Given the description of an element on the screen output the (x, y) to click on. 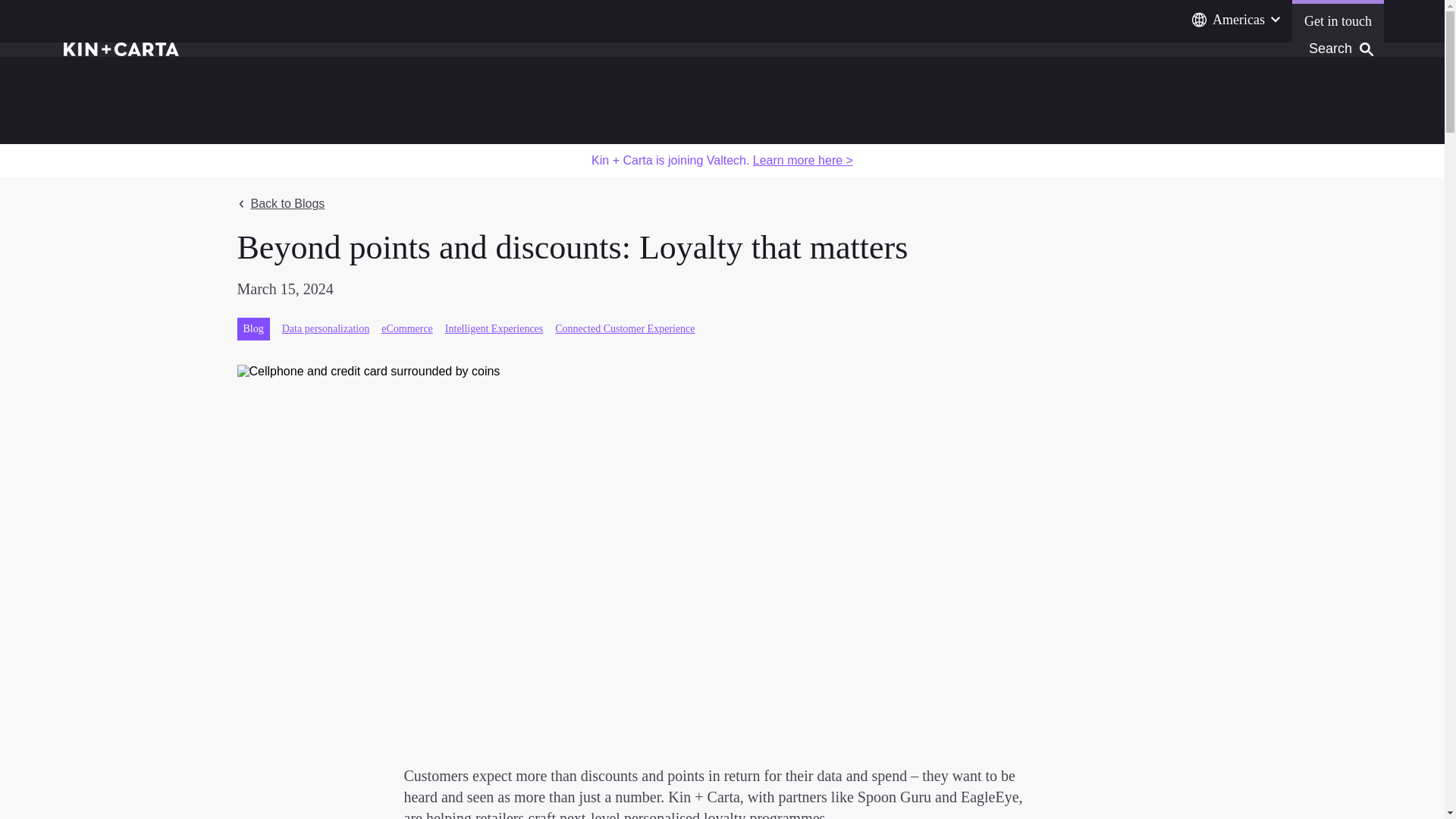
Connected Customer Experience (624, 328)
Intelligent Experiences (494, 328)
Search (1366, 49)
Americas (1235, 20)
Data personalization (325, 328)
Get in touch (1338, 21)
eCommerce (406, 328)
Blog (252, 328)
Back to Blogs (279, 203)
